Given the description of an element on the screen output the (x, y) to click on. 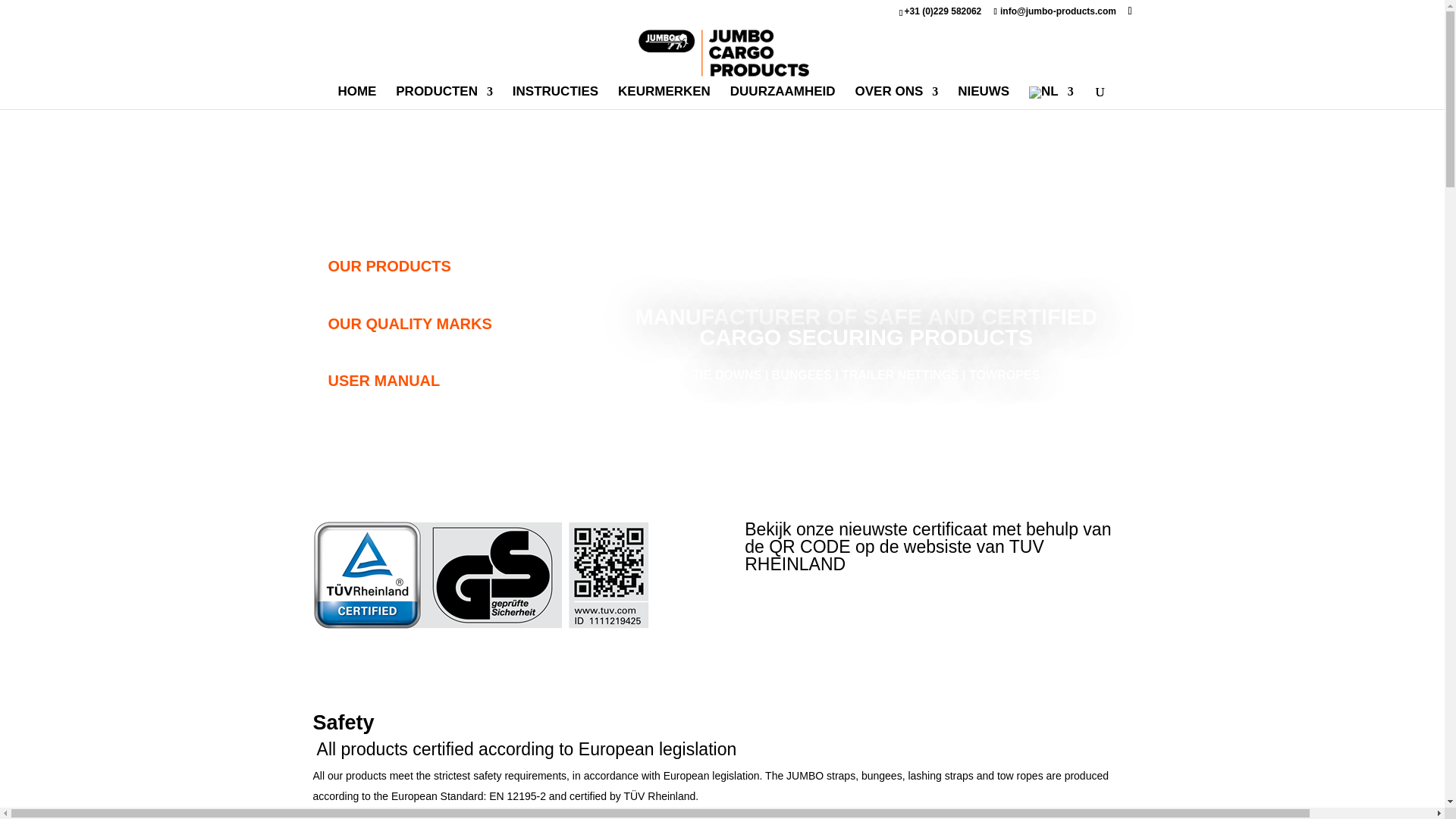
OVER ONS (897, 96)
OUR QUALITY MARKS (433, 323)
HOME (356, 96)
KEURMERKEN (663, 96)
NIEUWS (983, 96)
USER MANUAL (433, 380)
DUURZAAMHEID (782, 96)
OUR PRODUCTS (433, 265)
PRODUCTEN (444, 96)
INSTRUCTIES (555, 96)
